Given the description of an element on the screen output the (x, y) to click on. 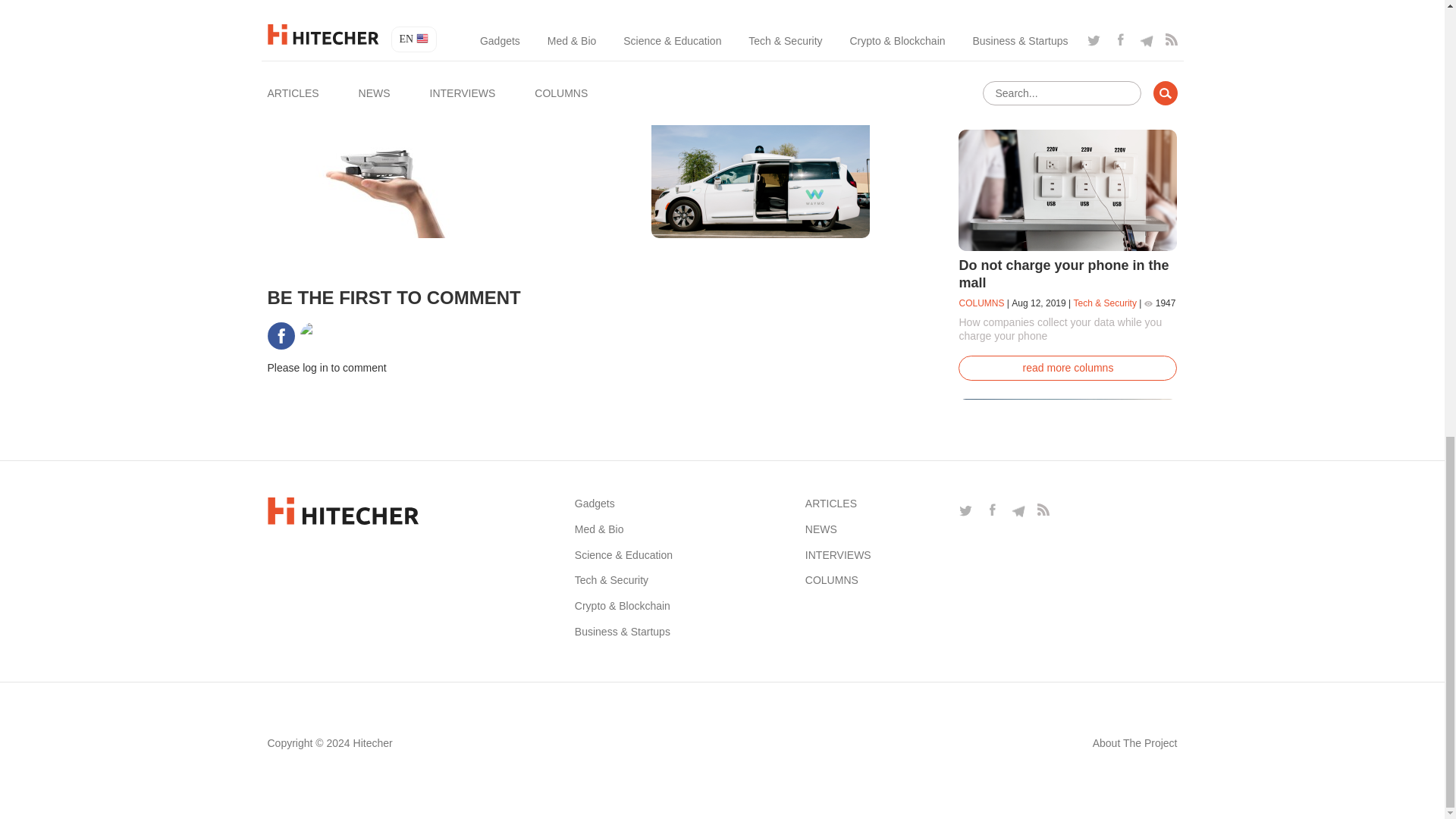
Aug 12, 2019 (1038, 303)
Apr 09, 2024 (408, 141)
